Given the description of an element on the screen output the (x, y) to click on. 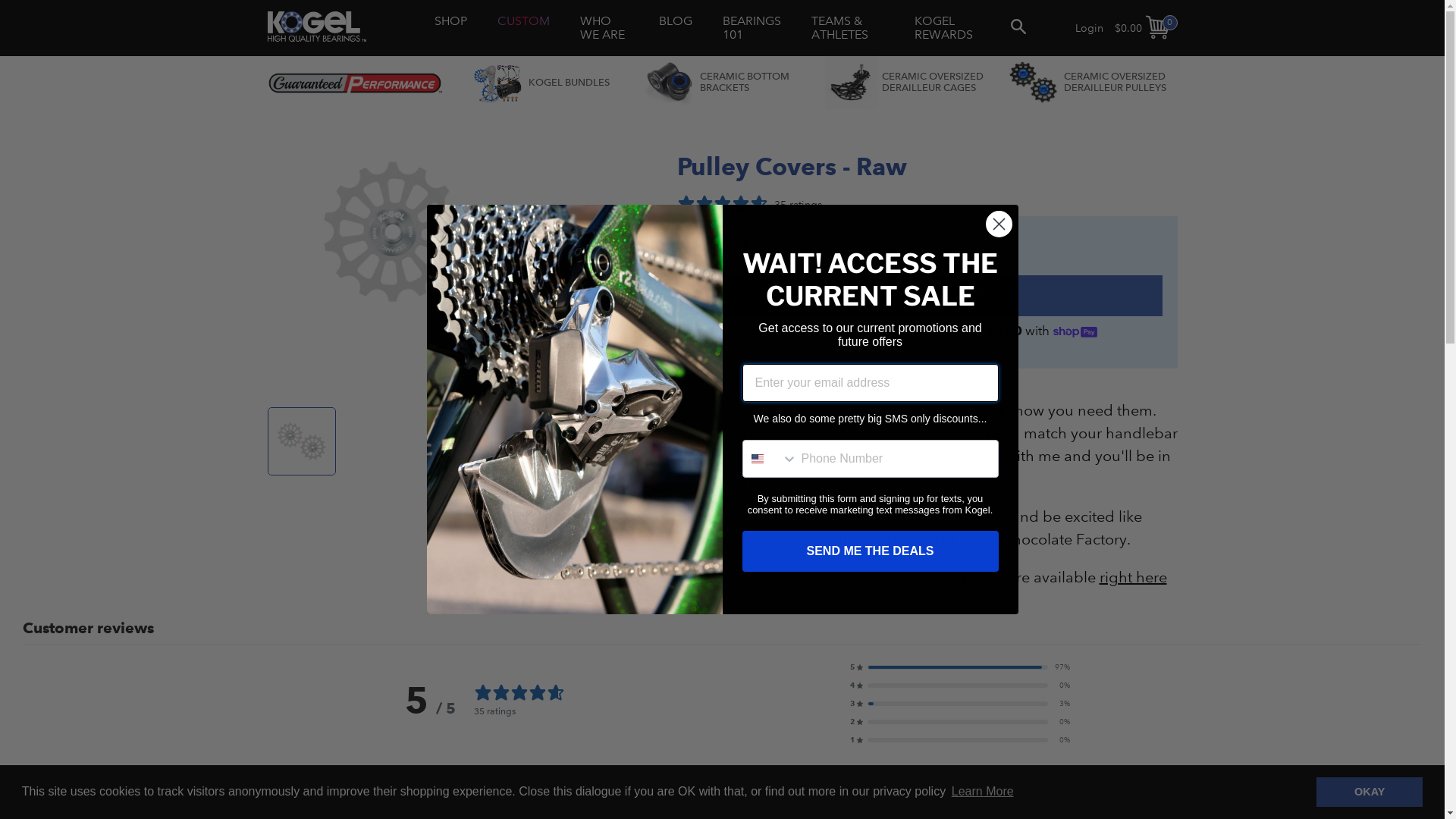
Kogel Bearings Element type: hover (315, 26)
SEND ME THE DEALS Element type: text (869, 550)
Reviews 33 Element type: text (69, 797)
TEAMS & ATHLETES Element type: text (847, 28)
SHOP Element type: text (449, 21)
OKAY Element type: text (1369, 791)
CERAMIC OVERSIZED DERAILLEUR PULLEYS Element type: text (1086, 82)
KOGEL REWARDS Element type: text (947, 28)
CERAMIC OVERSIZED DERAILLEUR CAGES Element type: text (904, 82)
CUSTOM Element type: text (523, 21)
35 ratings Element type: text (748, 204)
BEARINGS 101 Element type: text (751, 28)
BLOG Element type: text (675, 21)
KOGEL BUNDLES Element type: text (540, 82)
CERAMIC BOTTOM BRACKETS Element type: text (722, 82)
Submit Element type: text (23, 7)
right here Element type: text (1133, 576)
United States Element type: hover (756, 458)
Login Element type: text (1089, 27)
Learn More Element type: text (982, 791)
WHO WE ARE Element type: text (603, 28)
$0.00
0 Element type: text (1141, 28)
ADD TO CART Element type: text (926, 295)
Write a review Element type: text (1380, 792)
